Given the description of an element on the screen output the (x, y) to click on. 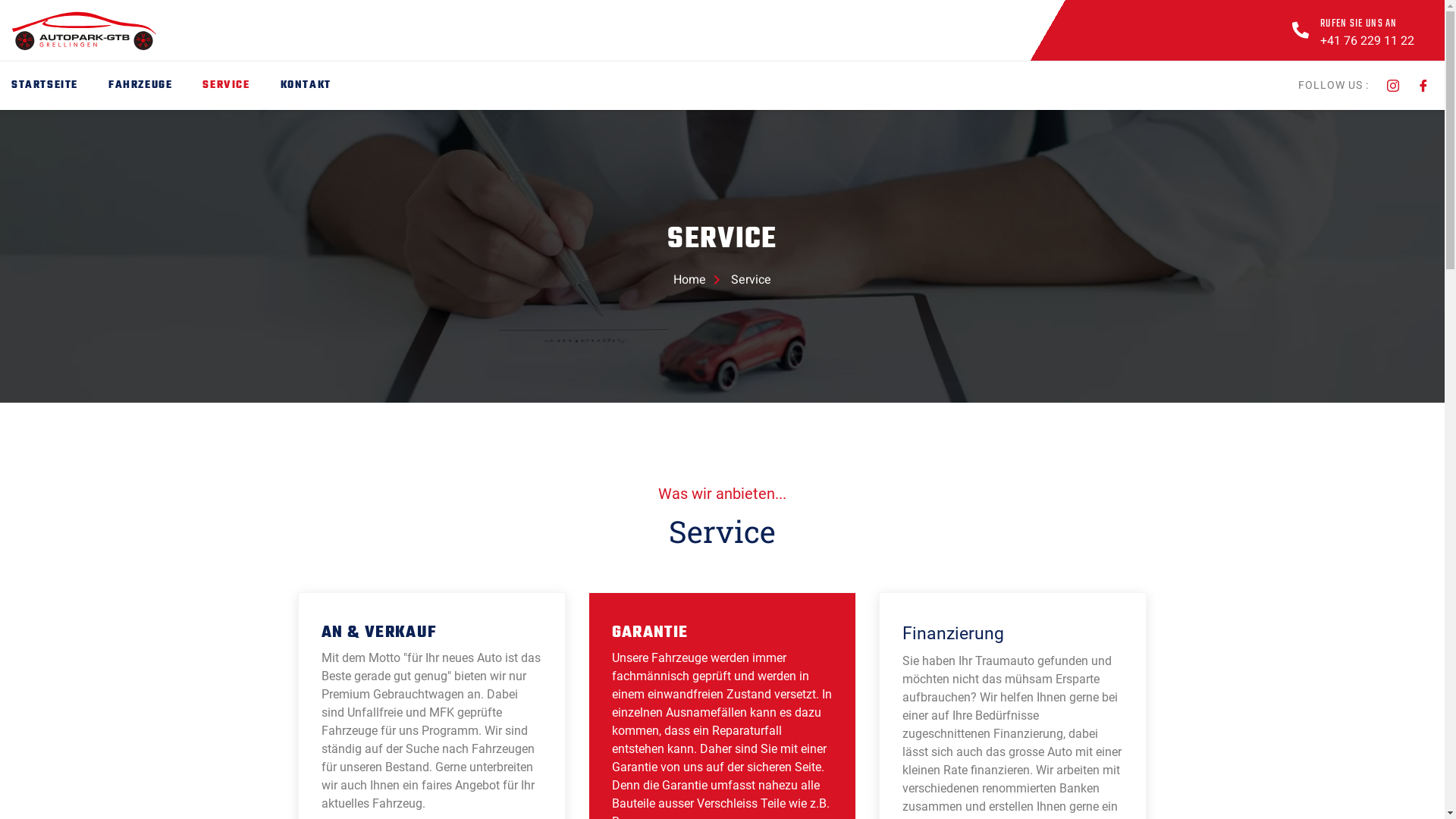
KONTAKT Element type: text (320, 85)
FAHRZEUGE Element type: text (155, 85)
SERVICE Element type: text (240, 85)
STARTSEITE Element type: text (59, 85)
